Given the description of an element on the screen output the (x, y) to click on. 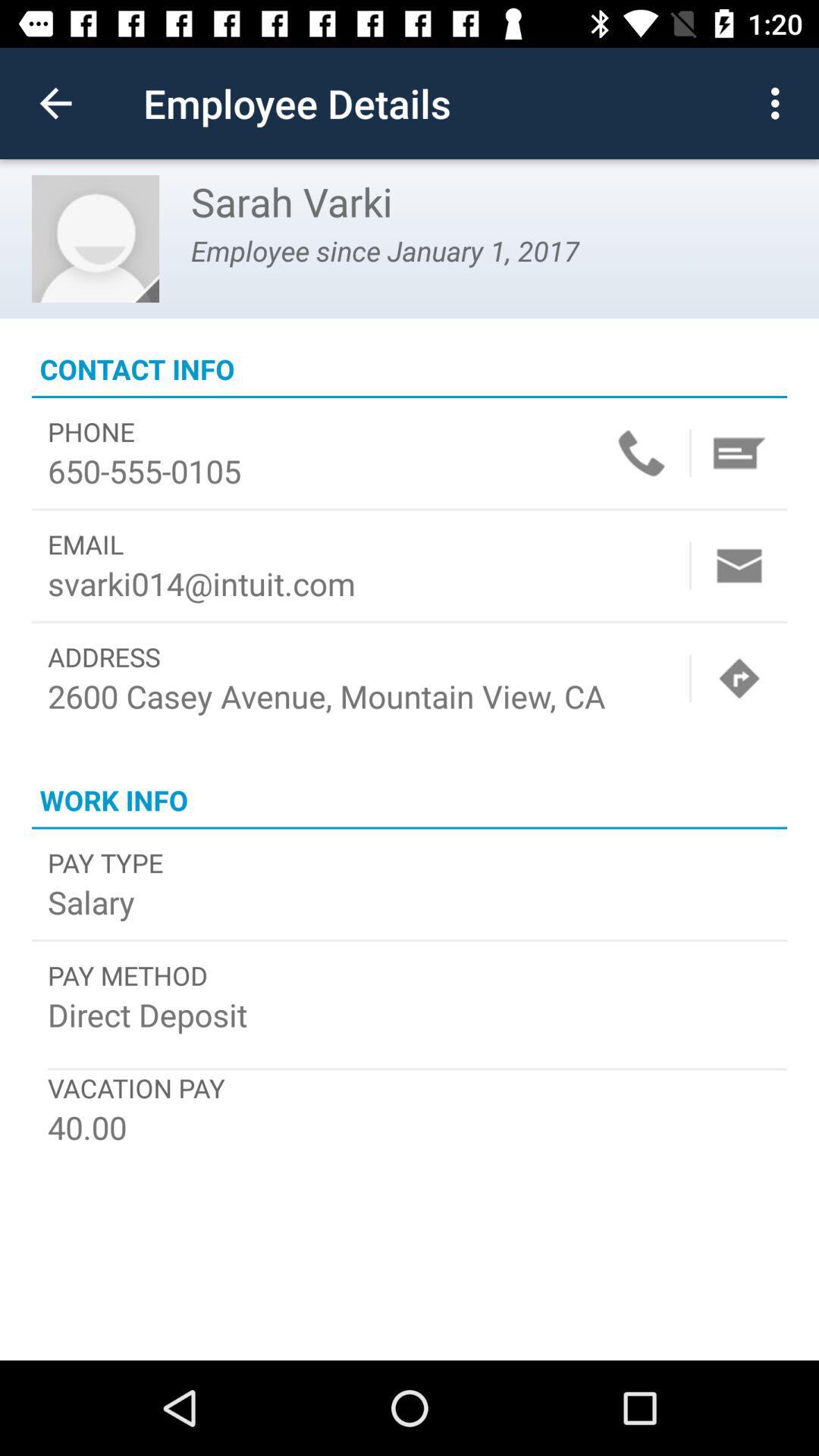
change photo (95, 238)
